Given the description of an element on the screen output the (x, y) to click on. 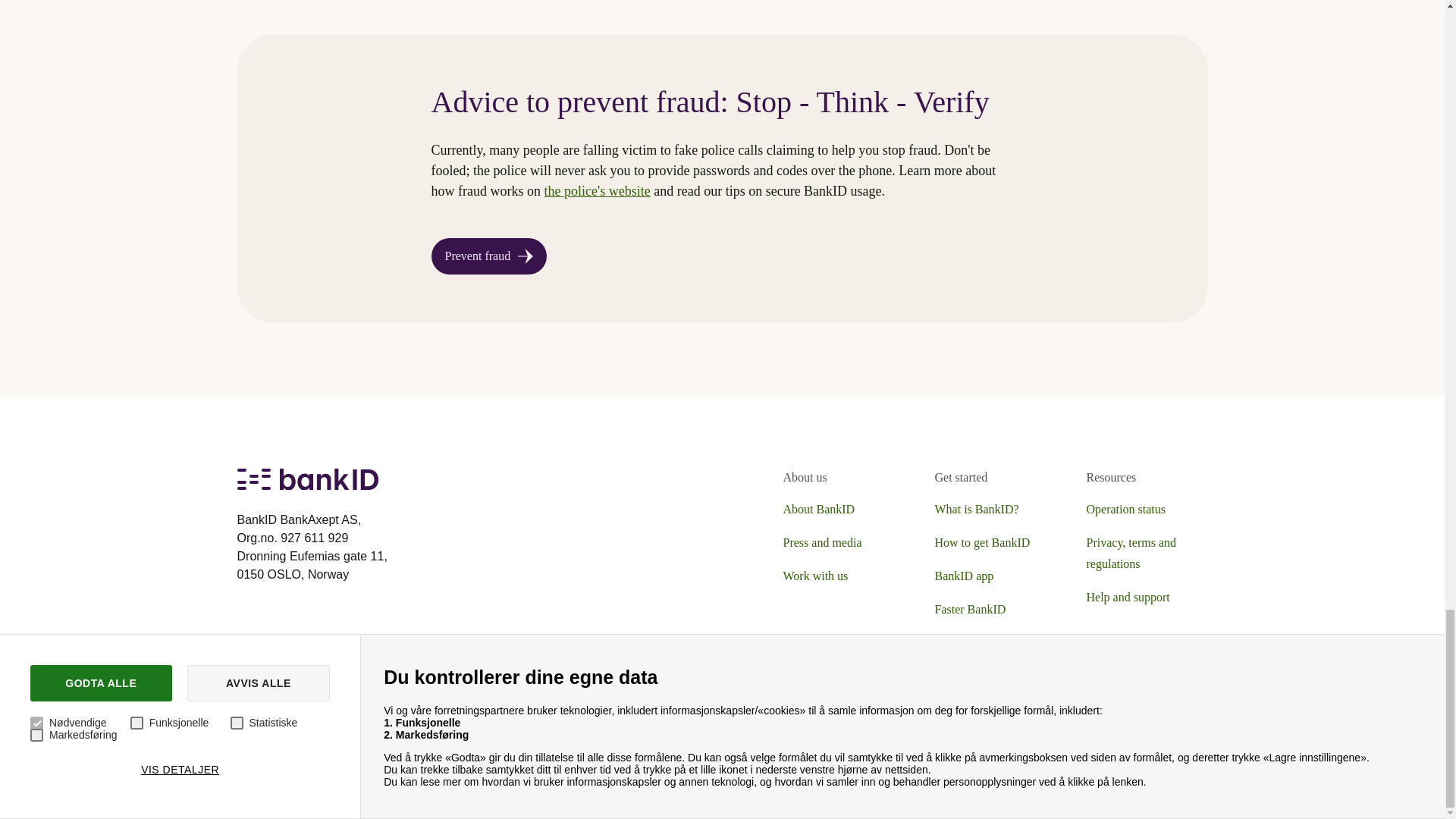
Get it on Google Play (299, 727)
Download on the App Store (432, 727)
